Given the description of an element on the screen output the (x, y) to click on. 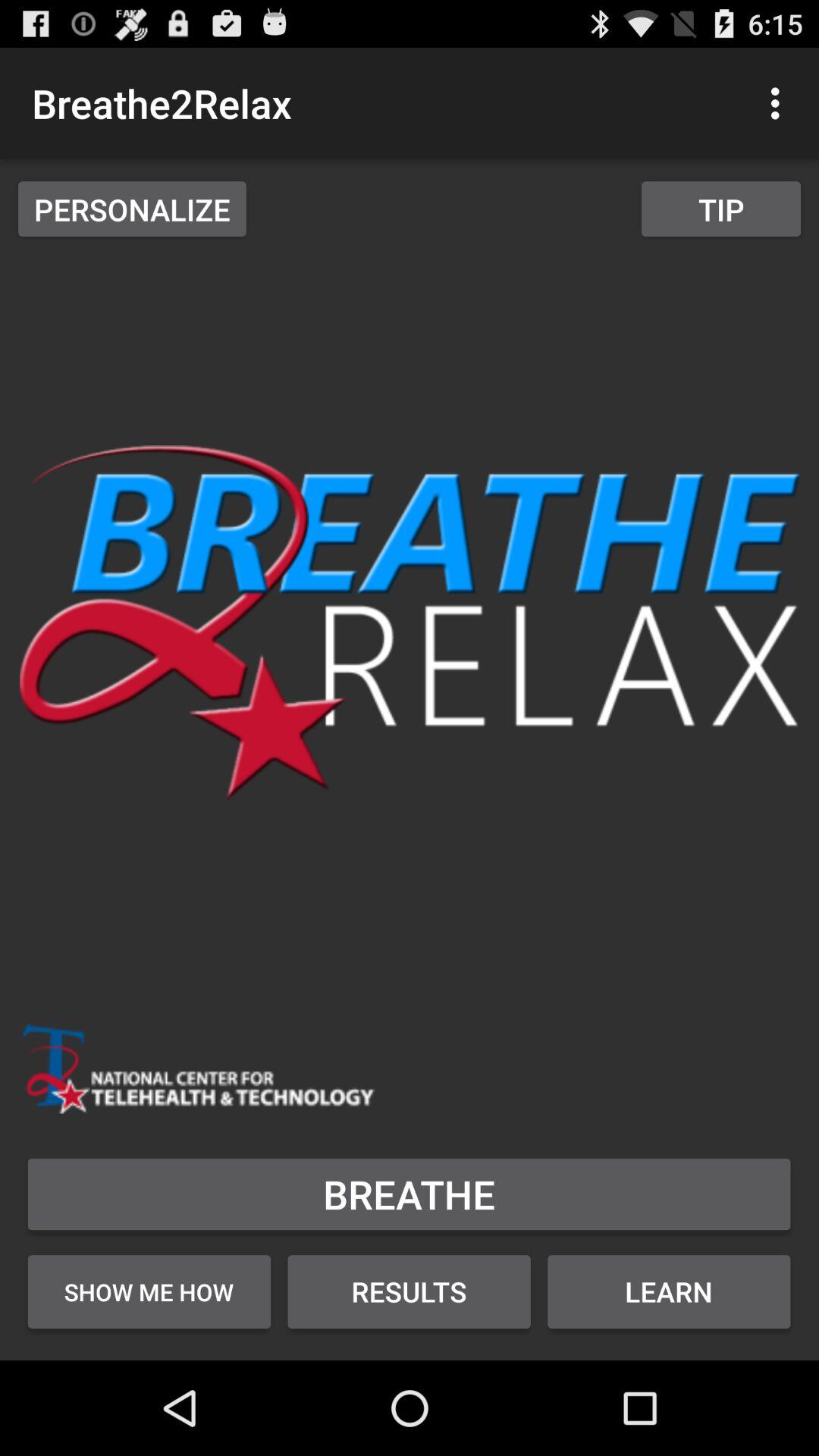
click learn icon (668, 1291)
